Given the description of an element on the screen output the (x, y) to click on. 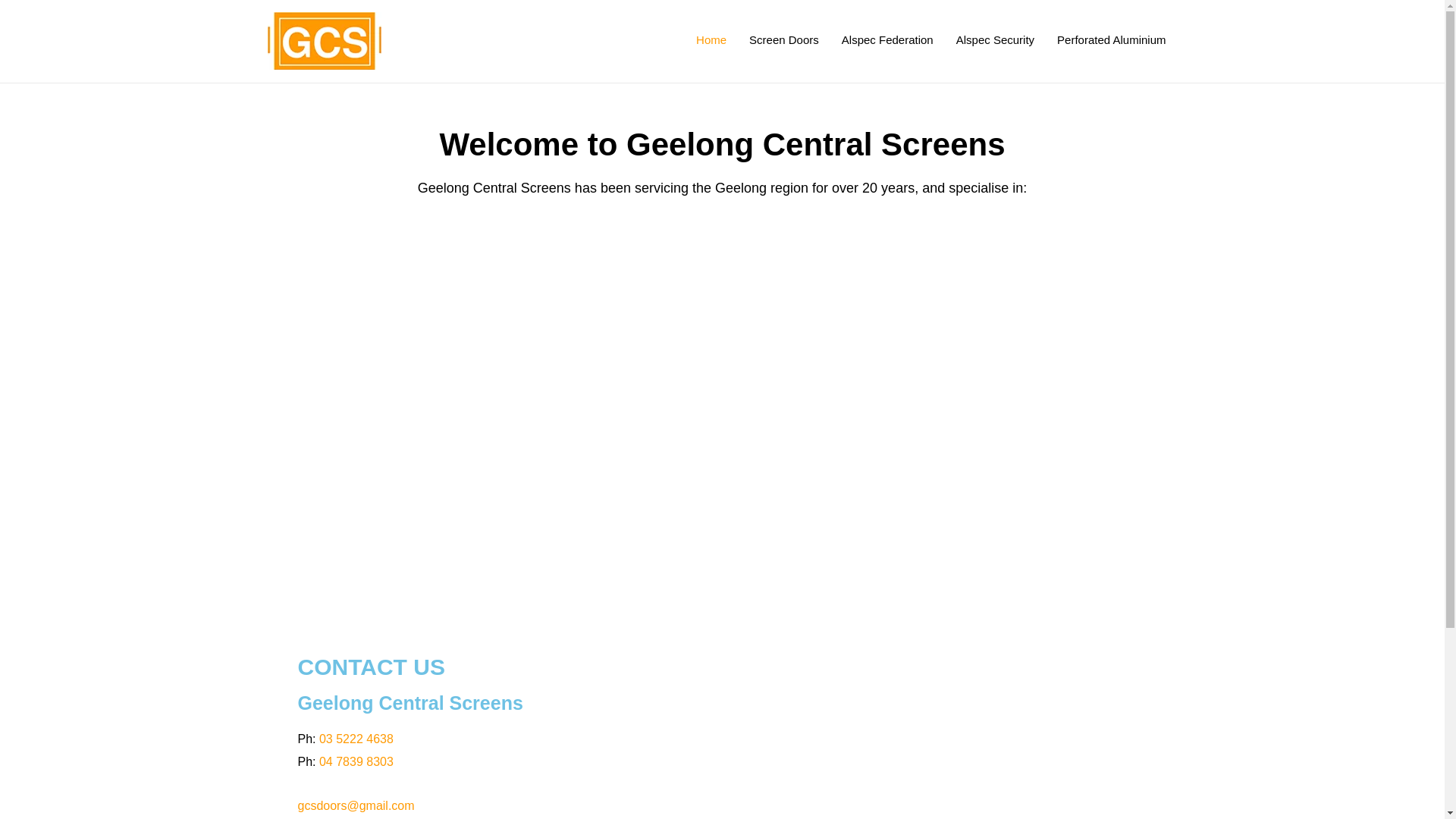
gcsdoors@gmail.com Element type: text (355, 805)
Alspec Federation Element type: text (887, 39)
Perforated Aluminium Element type: text (1110, 39)
04 7839 8303 Element type: text (356, 761)
Alspec Security Element type: text (994, 39)
03 5222 4638 Element type: text (356, 738)
Screen Doors Element type: text (783, 39)
Home Element type: text (710, 39)
